Given the description of an element on the screen output the (x, y) to click on. 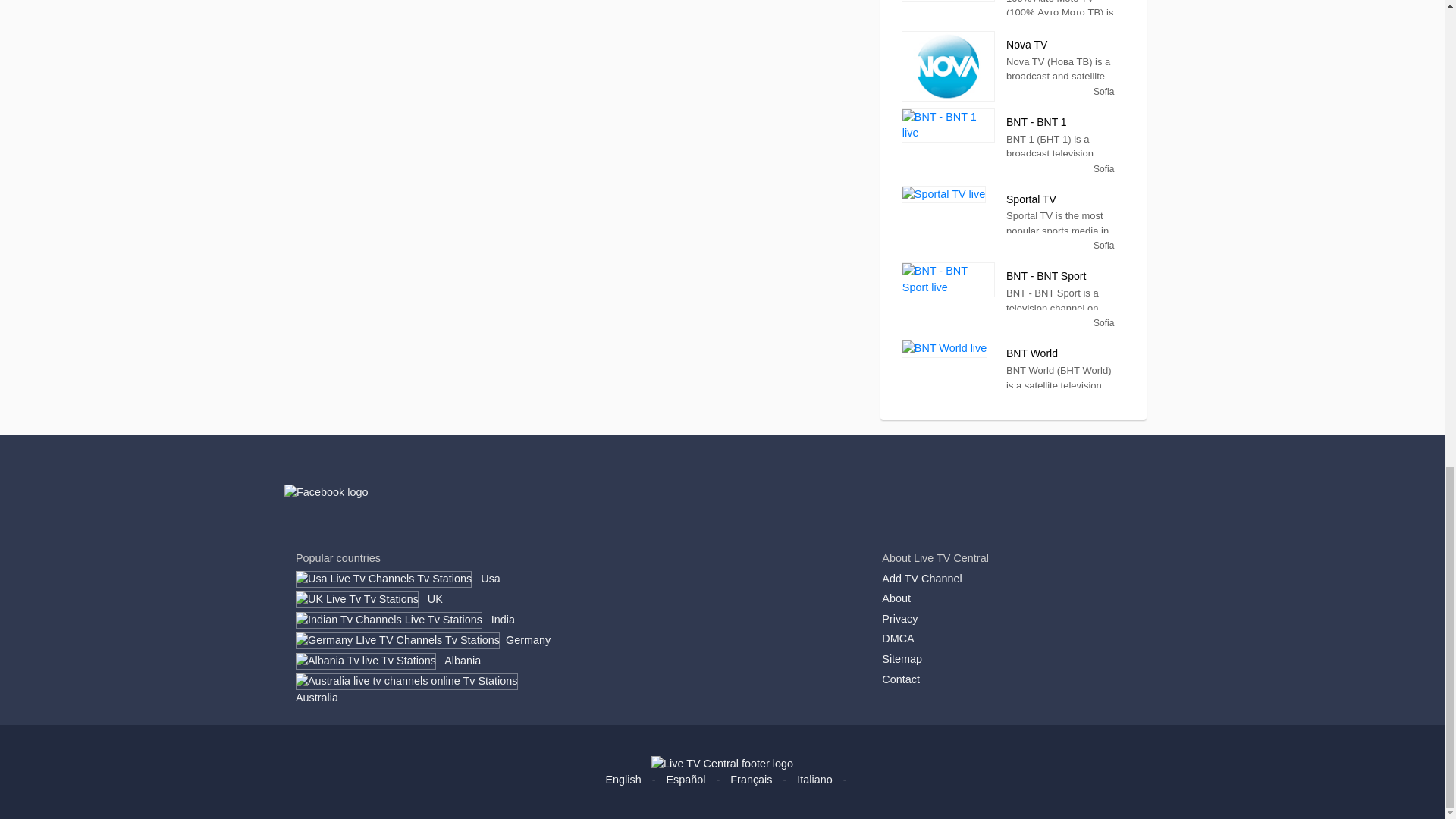
Sportal TV (943, 194)
BNT - BNT Sport (947, 279)
Nova TV (947, 66)
BNT World (944, 348)
BNT - BNT 1 (947, 125)
